Given the description of an element on the screen output the (x, y) to click on. 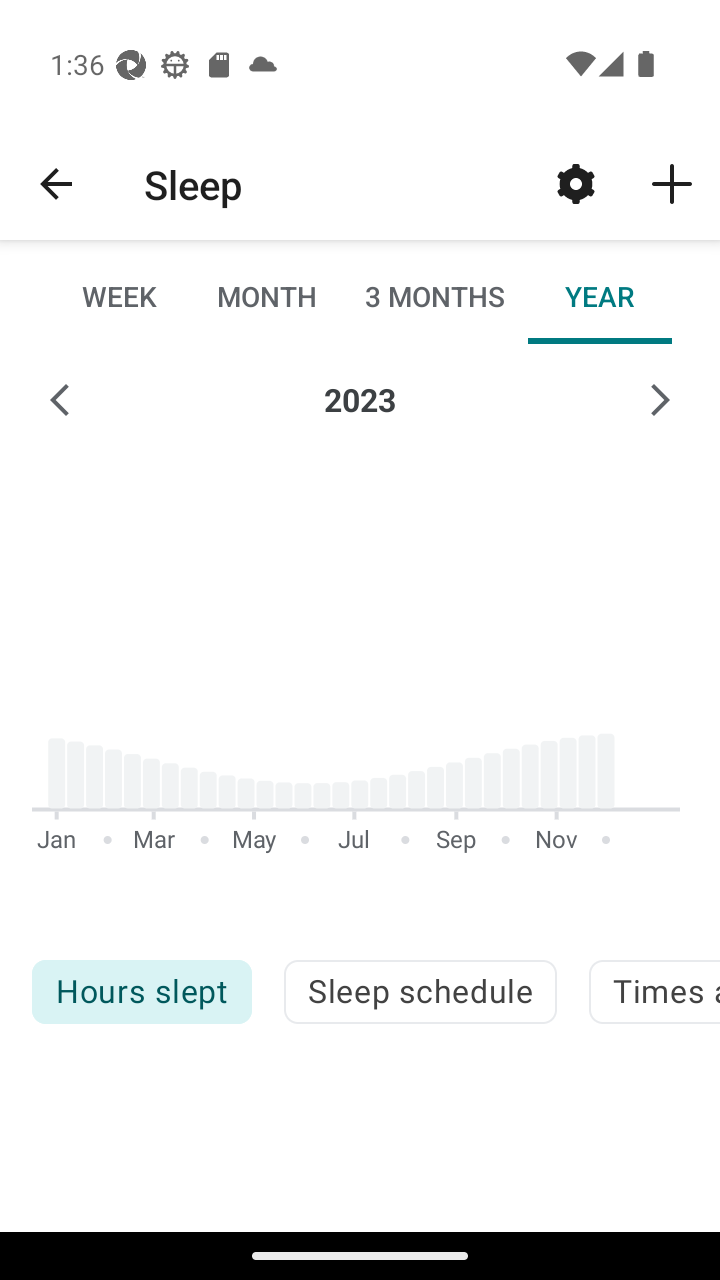
Navigate up (56, 184)
Adjust your goal (575, 183)
Tap to track sleep or
 log a past record (672, 183)
WEEK (120, 296)
MONTH (265, 296)
3 MONTHS (433, 296)
Previous (60, 399)
Next (659, 399)
Hours slept (141, 991)
Sleep schedule (420, 991)
Times awakened (654, 991)
